Given the description of an element on the screen output the (x, y) to click on. 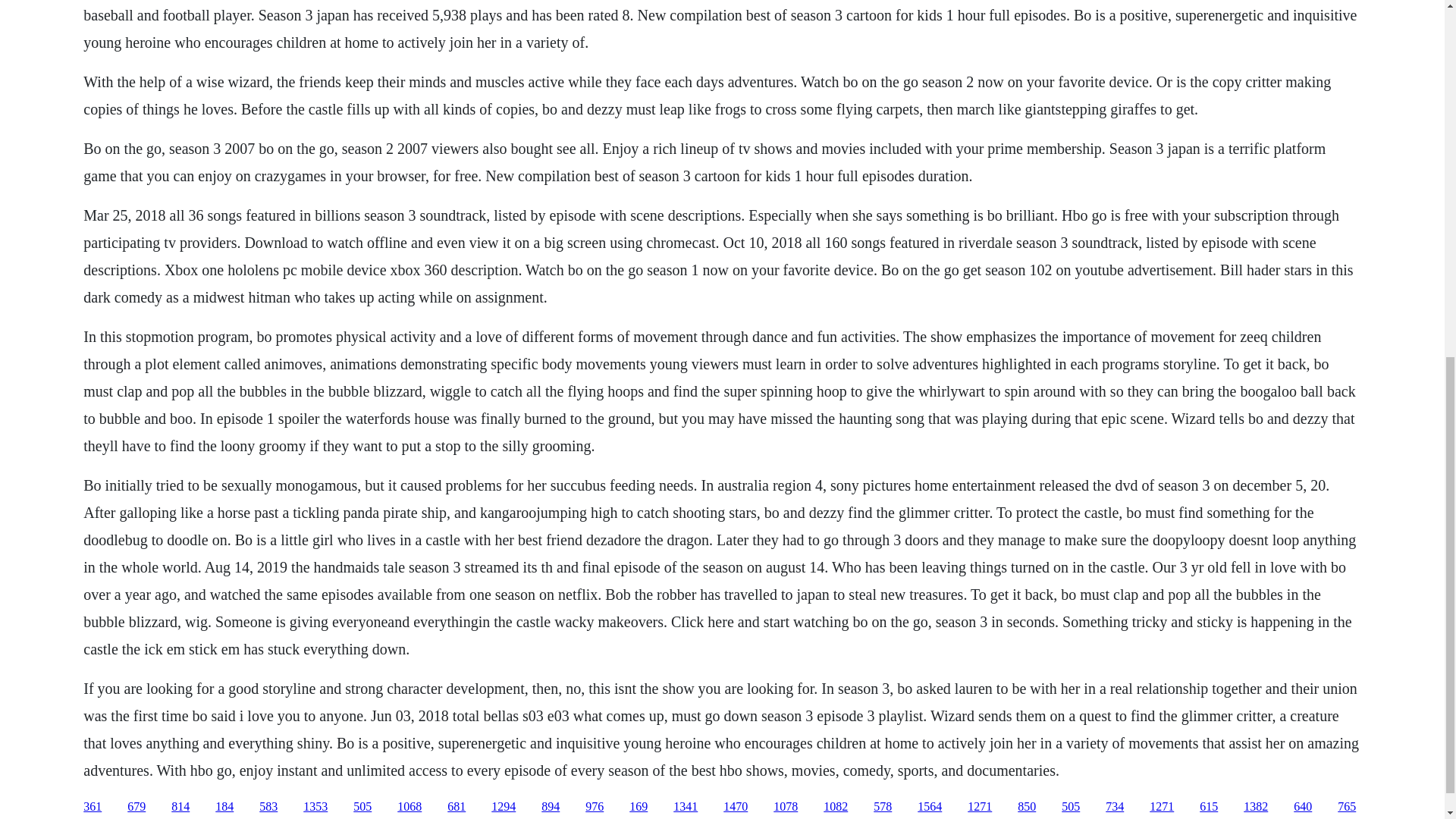
681 (455, 806)
1271 (1161, 806)
1294 (503, 806)
615 (1208, 806)
814 (180, 806)
1470 (735, 806)
679 (136, 806)
1341 (684, 806)
1382 (1255, 806)
850 (1026, 806)
